Given the description of an element on the screen output the (x, y) to click on. 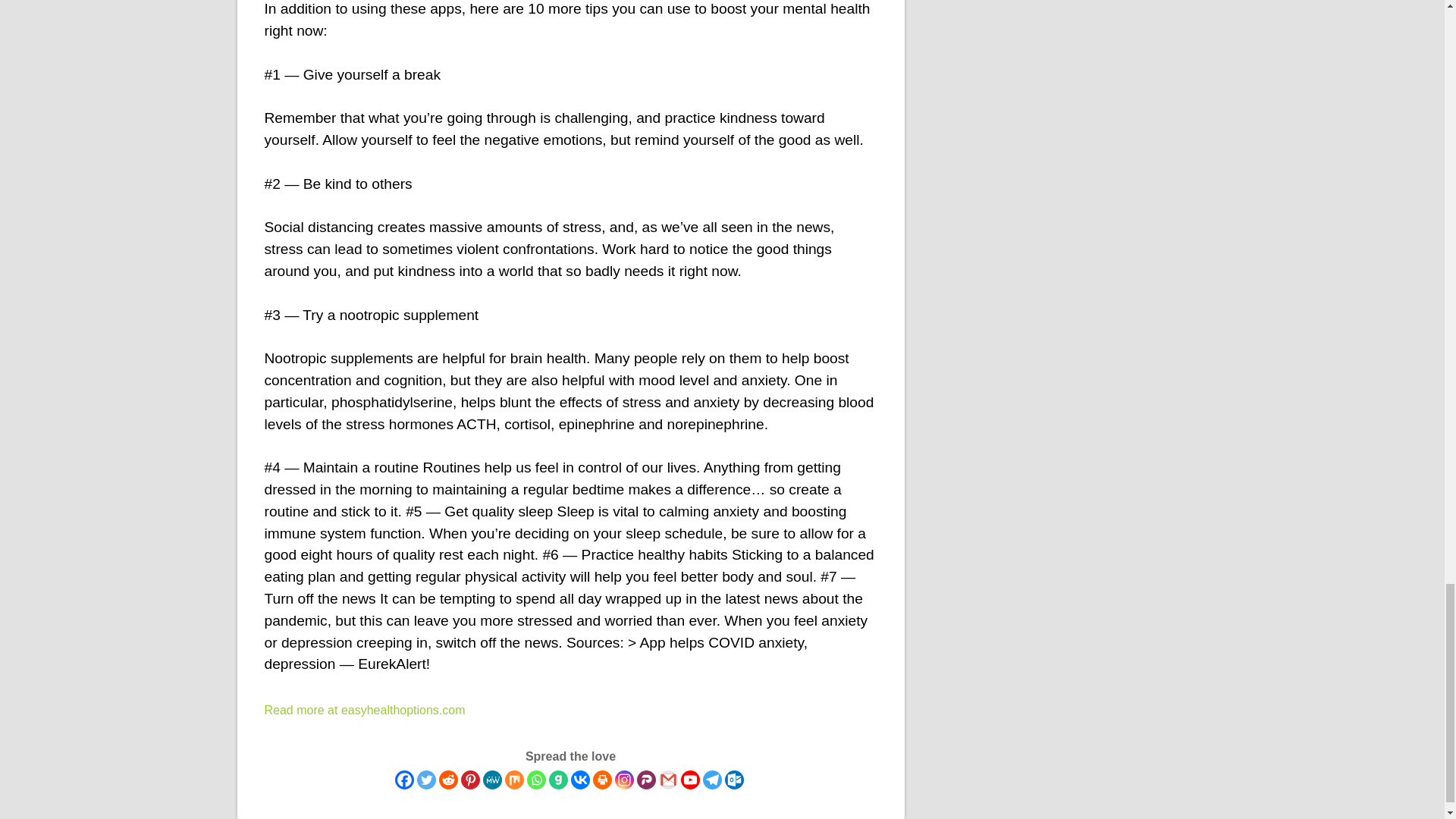
Gab (557, 779)
Youtube (690, 779)
Read more at easyhealthoptions.com (363, 709)
Google Gmail (667, 779)
MeWe (490, 779)
Twitter (425, 779)
Reddit (447, 779)
Pinterest (470, 779)
Whatsapp (534, 779)
Print (601, 779)
Telegram (710, 779)
Vkontakte (579, 779)
Mix (514, 779)
Parler (646, 779)
Instagram (623, 779)
